Given the description of an element on the screen output the (x, y) to click on. 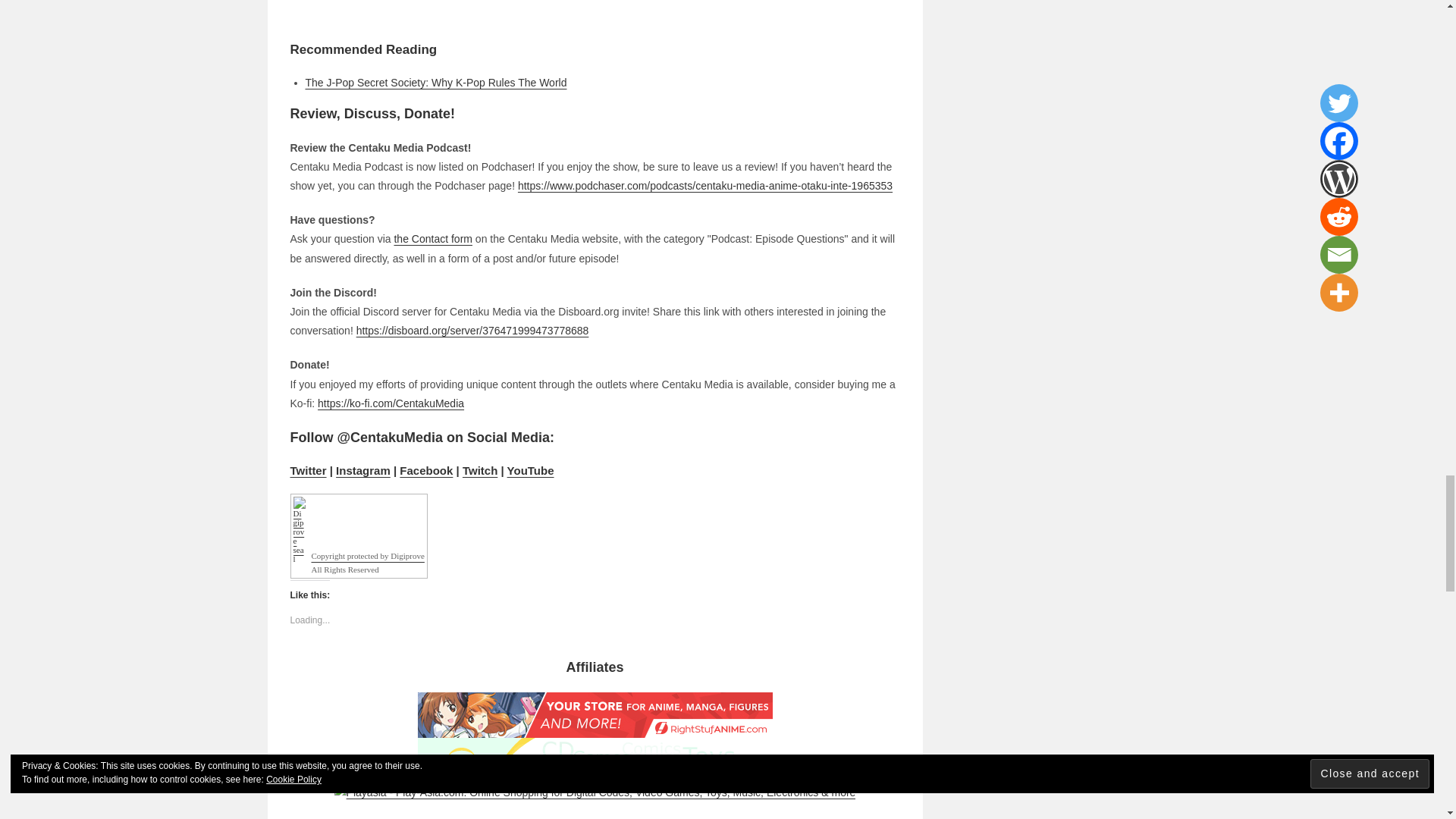
Click to see details of license (357, 569)
